Given the description of an element on the screen output the (x, y) to click on. 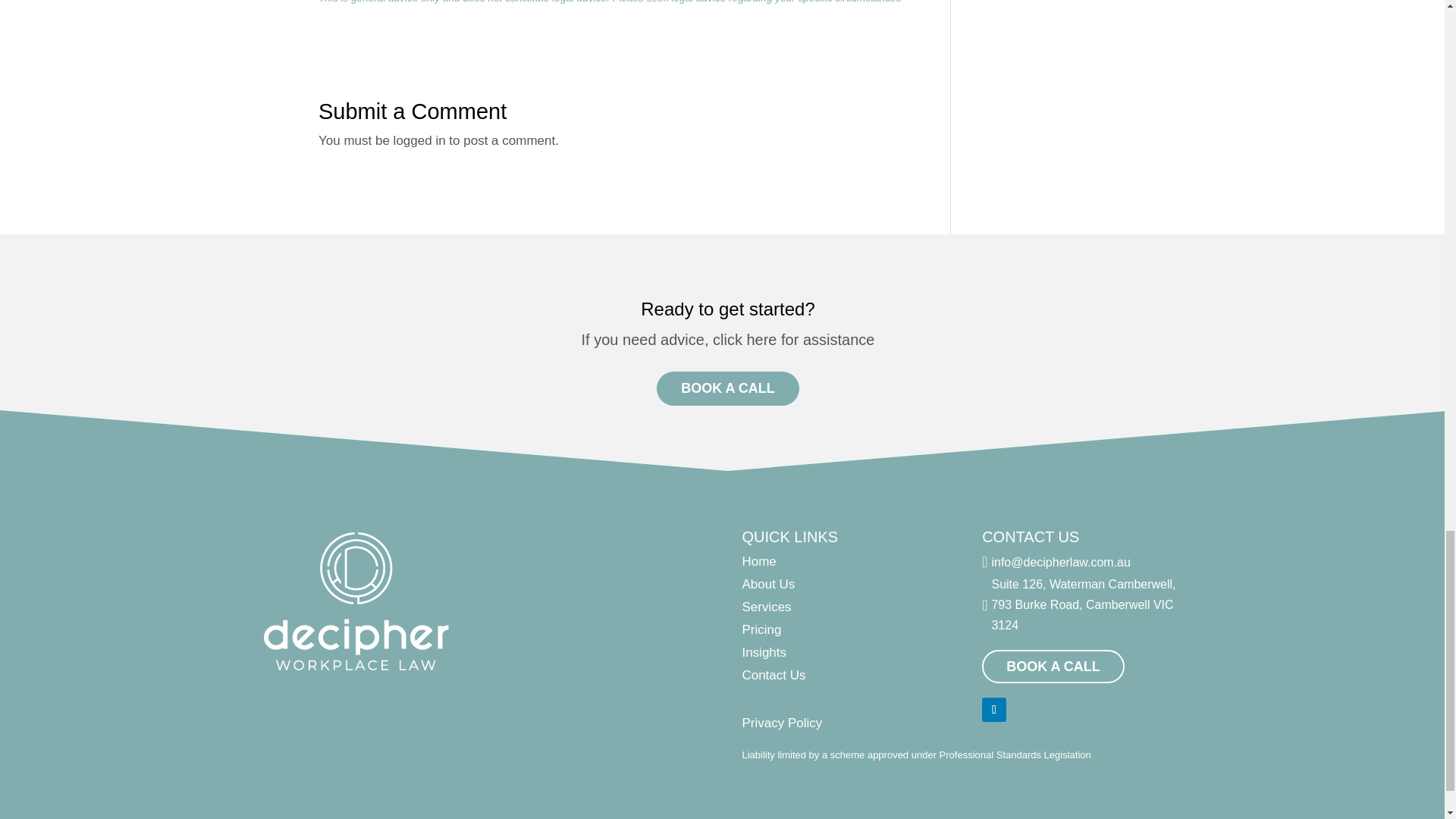
Contact Us (773, 675)
Insights (763, 652)
Follow on LinkedIn (993, 709)
Pricing (760, 629)
Home (758, 561)
About Us (767, 584)
Services (765, 606)
BOOK A CALL (727, 388)
